Given the description of an element on the screen output the (x, y) to click on. 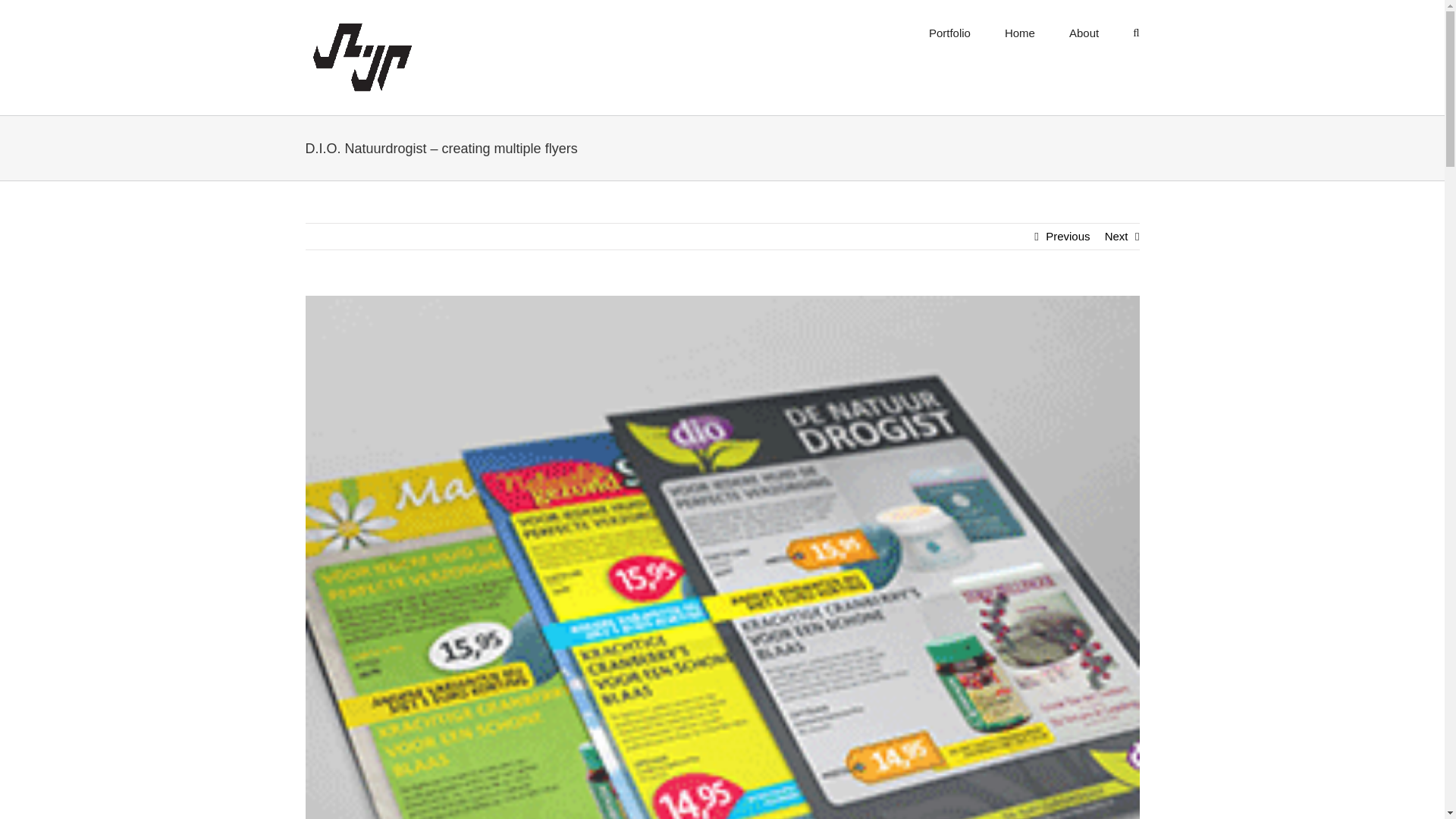
Previous (1067, 236)
Next (1116, 236)
